Given the description of an element on the screen output the (x, y) to click on. 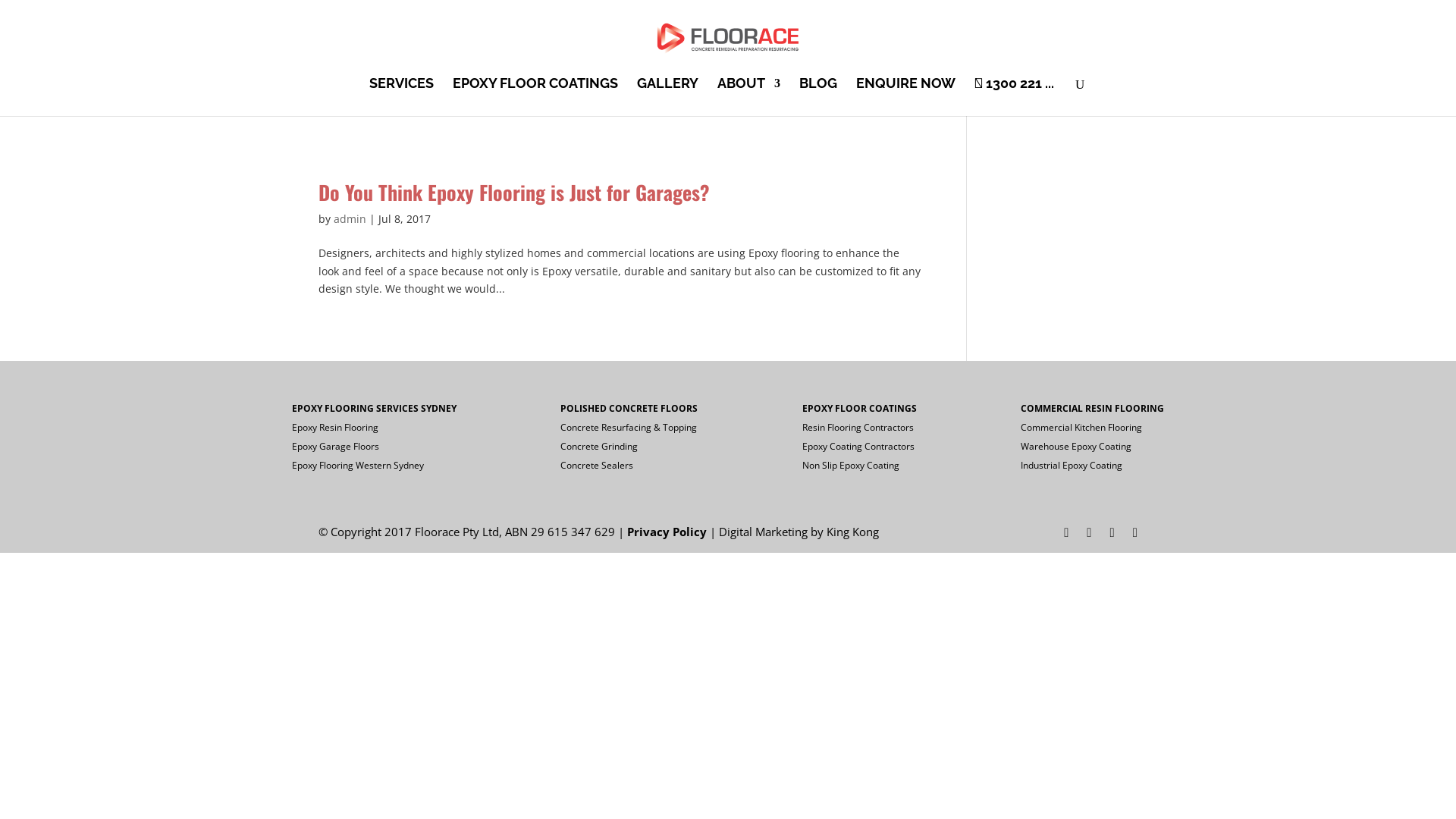
Concrete Resurfacing & Topping Element type: text (628, 426)
BLOG Element type: text (818, 97)
Do You Think Epoxy Flooring is Just for Garages? Element type: text (513, 192)
COMMERCIAL RESIN FLOORING Element type: text (1092, 407)
Epoxy Flooring Western Sydney Element type: text (357, 464)
EPOXY FLOOR COATINGS Element type: text (859, 407)
Epoxy Resin Flooring Element type: text (334, 426)
Non Slip Epoxy Coating Element type: text (850, 464)
Resin Flooring Contractors Element type: text (857, 426)
Industrial Epoxy Coating Element type: text (1071, 464)
Concrete Grinding Element type: text (598, 445)
Warehouse Epoxy Coating Element type: text (1075, 445)
GALLERY Element type: text (667, 97)
ABOUT Element type: text (748, 97)
Epoxy Coating Contractors Element type: text (858, 445)
Concrete Sealers Element type: text (596, 464)
Commercial Kitchen Flooring Element type: text (1081, 426)
Epoxy Garage Floors Element type: text (335, 445)
Privacy Policy Element type: text (666, 531)
ENQUIRE NOW Element type: text (905, 97)
admin Element type: text (349, 218)
EPOXY FLOOR COATINGS Element type: text (535, 97)
EPOXY FLOORING SERVICES SYDNEY Element type: text (373, 407)
SERVICES Element type: text (401, 97)
POLISHED CONCRETE FLOORS Element type: text (628, 407)
